Given the description of an element on the screen output the (x, y) to click on. 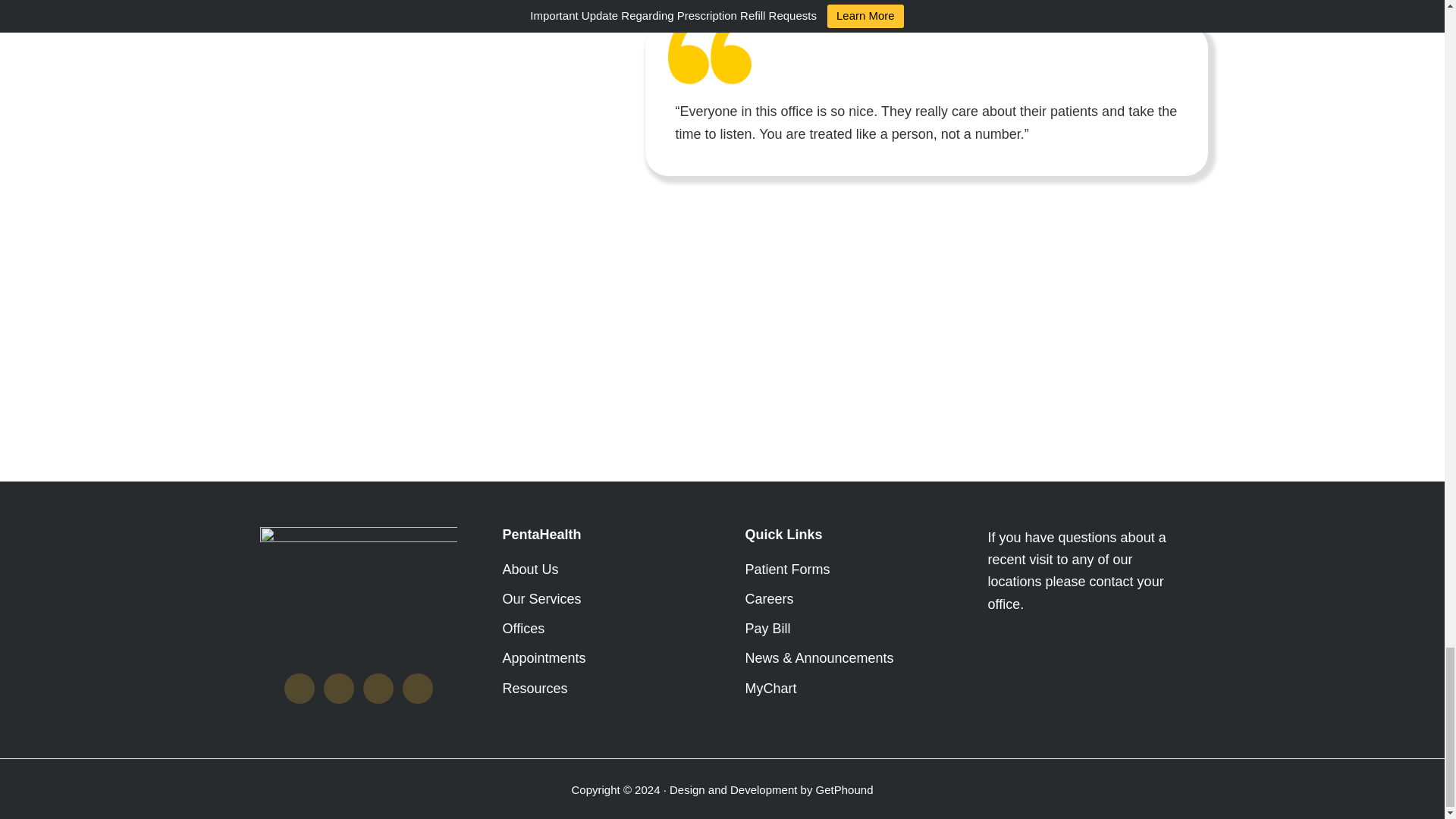
Our Services (541, 598)
Careers (768, 598)
Patient Forms (786, 569)
Offices (523, 628)
Resources (534, 688)
Pay Bill (767, 628)
About Us (529, 569)
Appointments (543, 657)
